Given the description of an element on the screen output the (x, y) to click on. 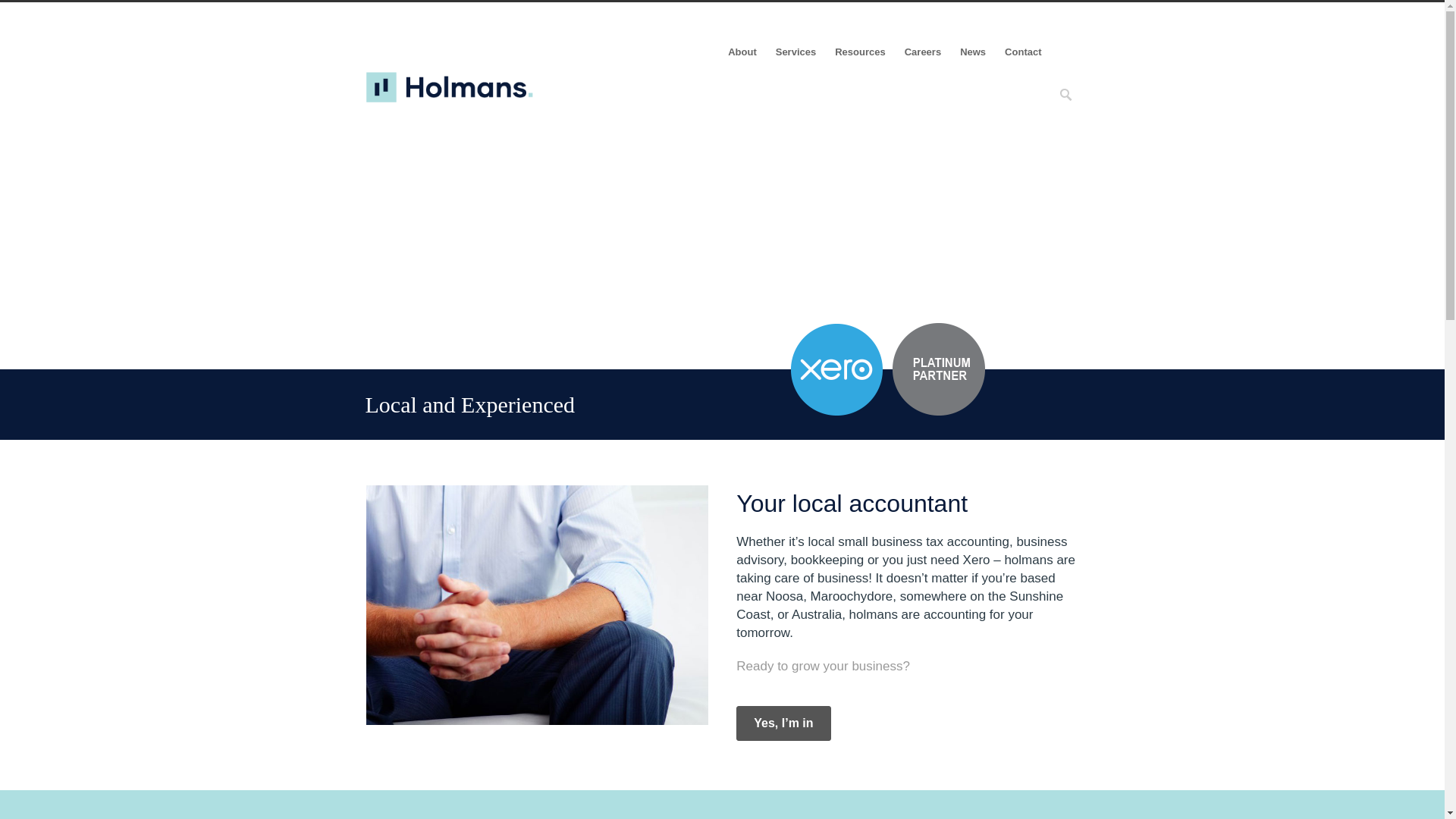
Ready to grow your business? (823, 666)
Search (13, 10)
